Given the description of an element on the screen output the (x, y) to click on. 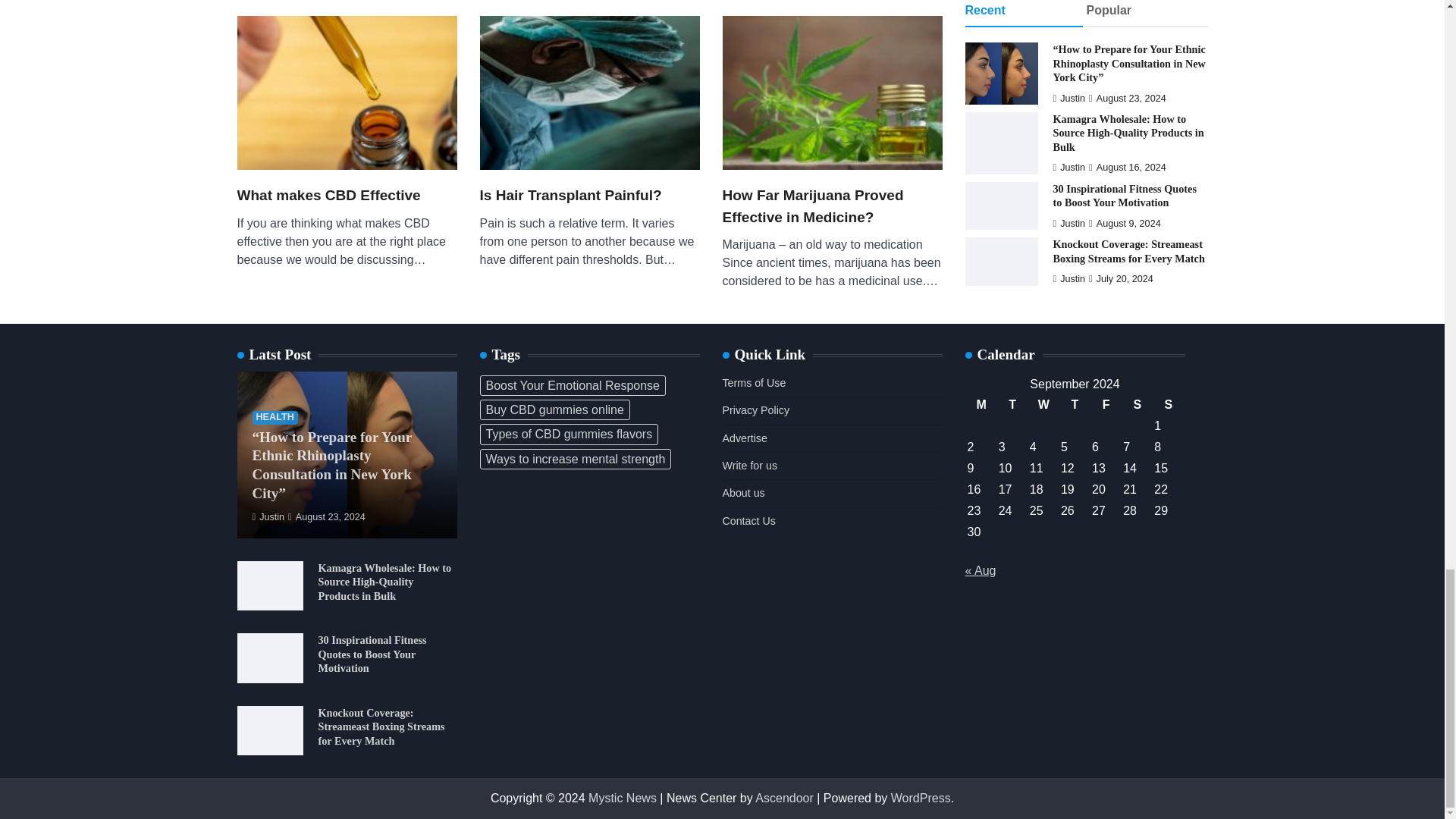
Friday (1105, 404)
What makes CBD Effective (327, 196)
Is Hair Transplant Painful? (570, 196)
Tuesday (1012, 404)
Monday (980, 404)
Wednesday (1043, 404)
How Far Marijuana Proved Effective in Medicine? (832, 206)
Thursday (1074, 404)
Sunday (1167, 404)
Saturday (1136, 404)
